Given the description of an element on the screen output the (x, y) to click on. 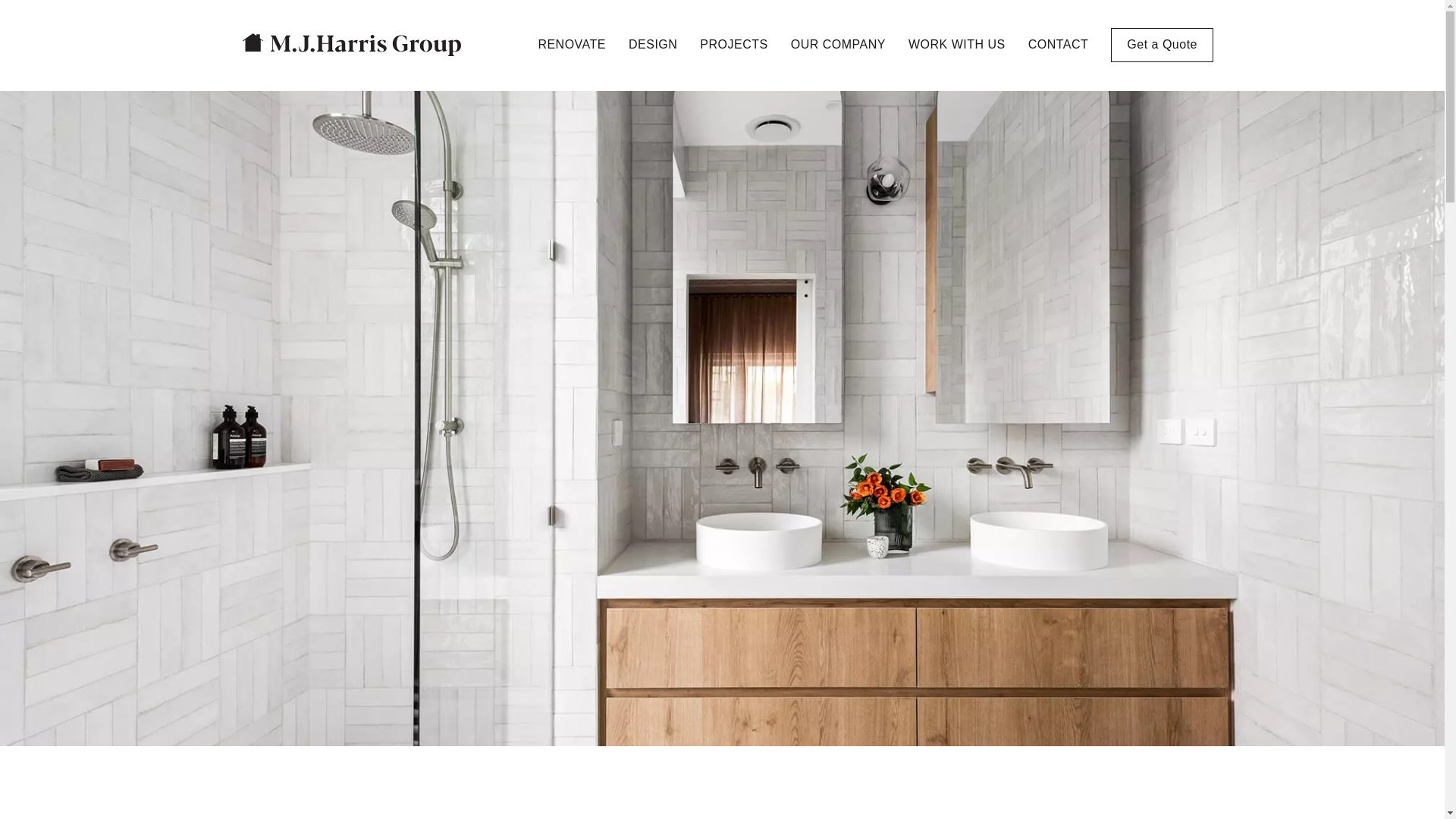
PROJECTS Element type: text (733, 44)
RENOVATE Element type: text (571, 44)
CONTACT Element type: text (1058, 44)
DESIGN Element type: text (652, 44)
M.J. Harris Group Element type: hover (351, 44)
WORK WITH US Element type: text (956, 44)
Get a Quote Element type: text (1161, 44)
OUR COMPANY Element type: text (838, 44)
